Given the description of an element on the screen output the (x, y) to click on. 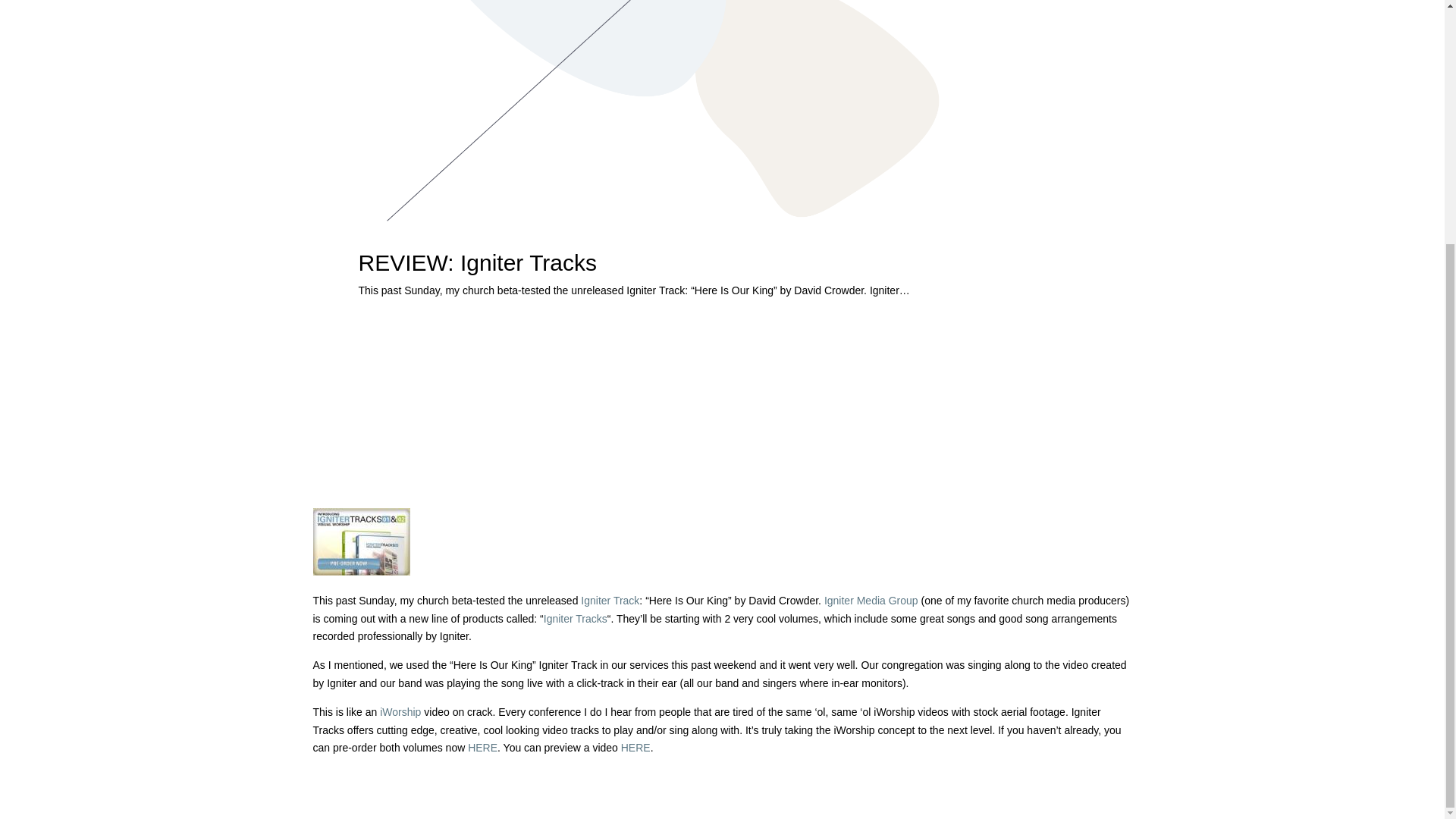
Igniter Media Group (871, 600)
Igniter Tracks (575, 618)
Igniter Track (609, 600)
HERE (635, 747)
iWorship (400, 711)
HERE (482, 747)
